Given the description of an element on the screen output the (x, y) to click on. 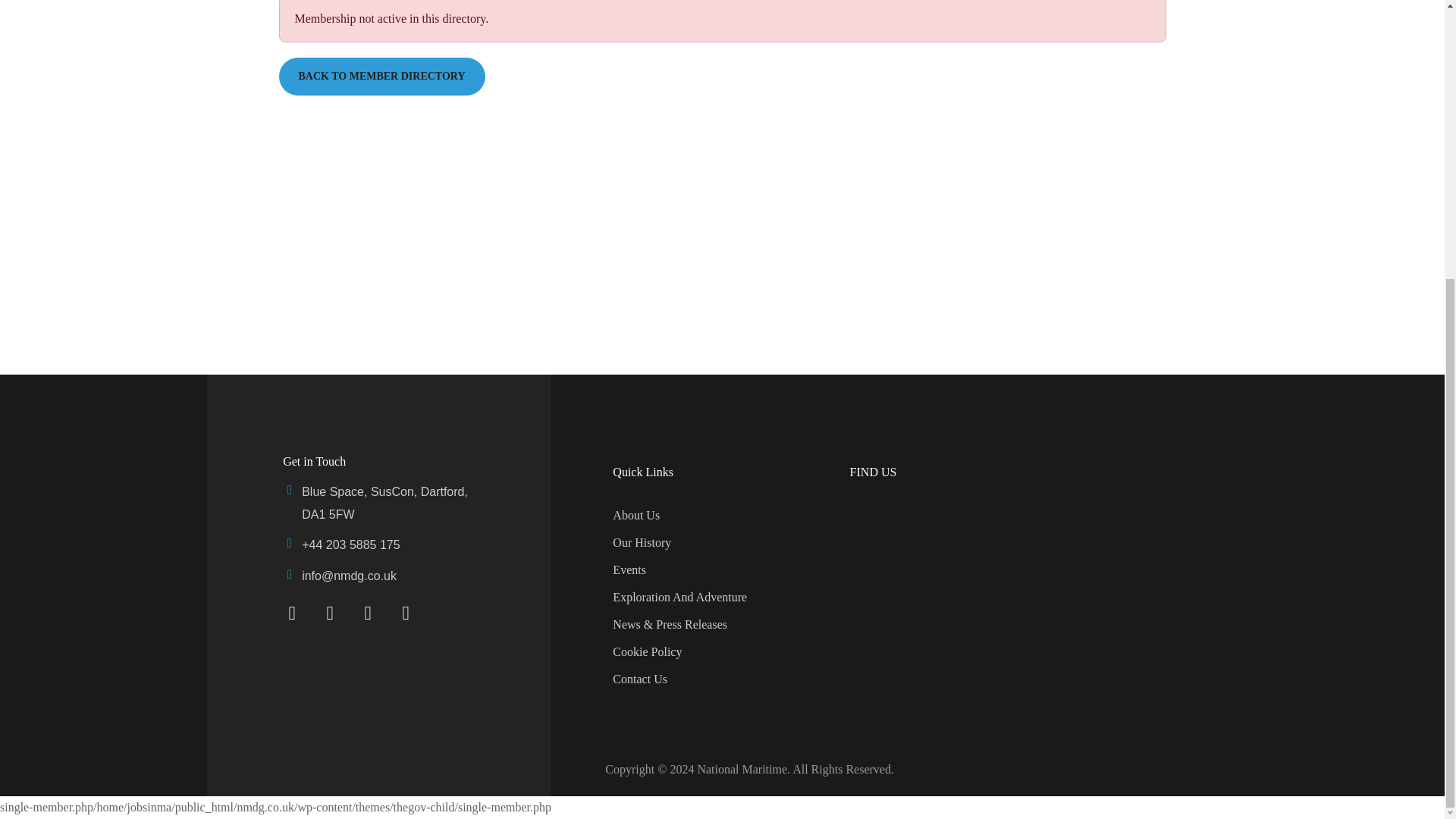
Blue Space, SusCon, Dartford, DA1 5FW (1005, 572)
